Given the description of an element on the screen output the (x, y) to click on. 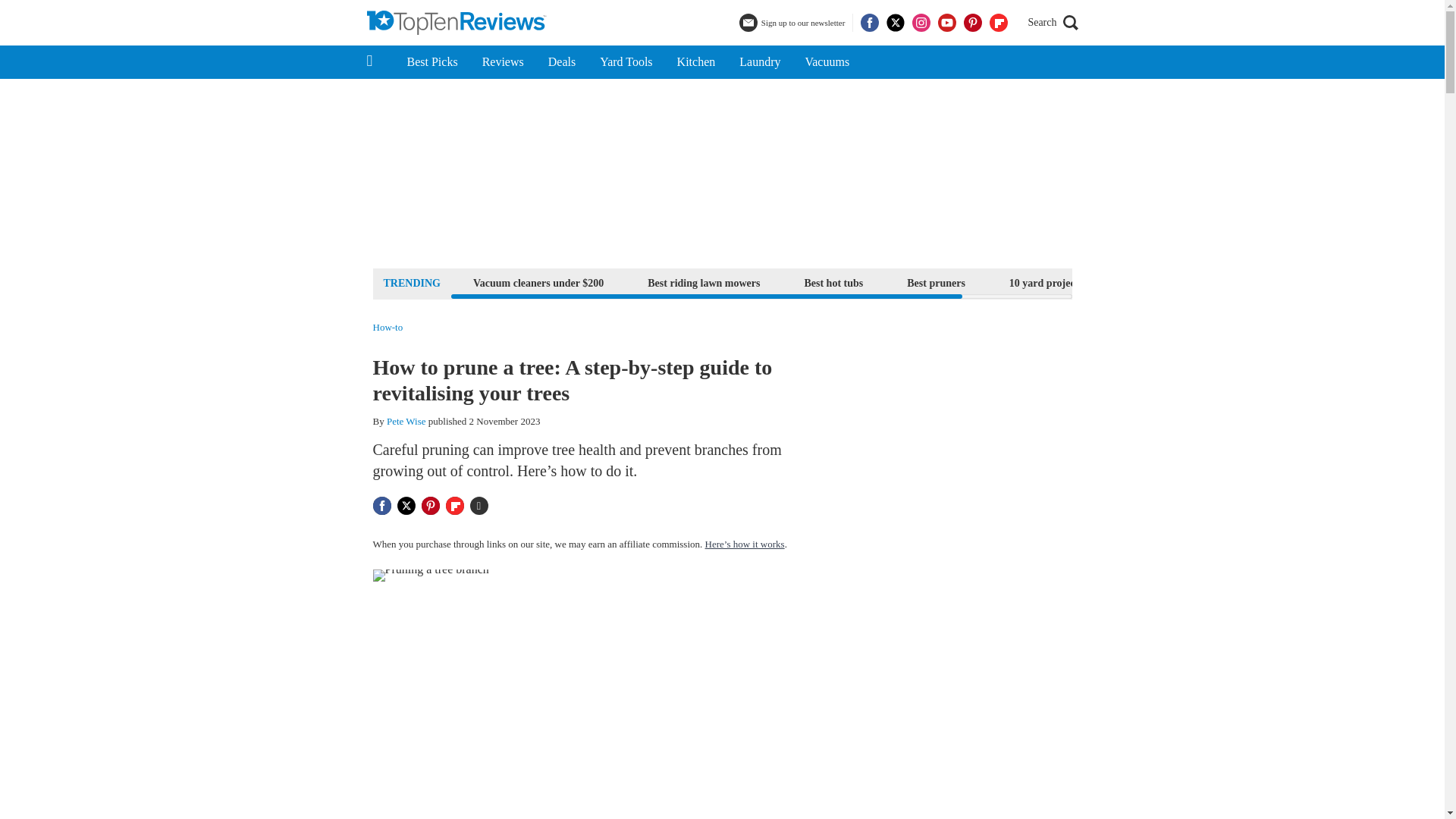
Yard Tools (625, 61)
Best riding lawn mowers (703, 282)
Deals (561, 61)
Kitchen (696, 61)
Pete Wise (406, 420)
Best hot tubs (832, 282)
How-to (387, 327)
10 yard projects to complete in August (1096, 282)
Sign up to our newsletter (793, 22)
Best pruners (936, 282)
Best Picks (431, 61)
Reviews (502, 61)
Laundry (759, 61)
Vacuums (826, 61)
